Given the description of an element on the screen output the (x, y) to click on. 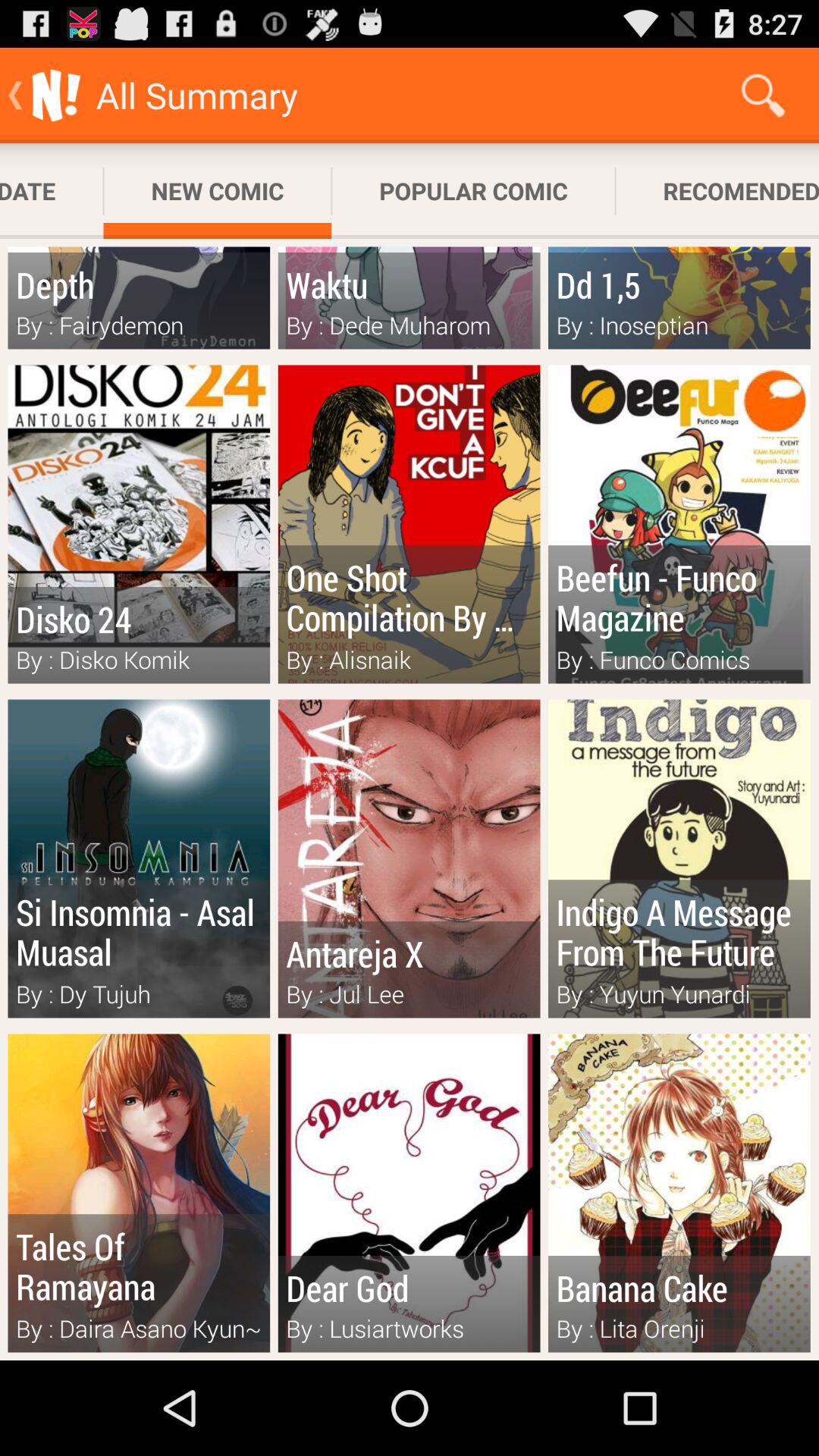
flip until popular comic icon (473, 190)
